Given the description of an element on the screen output the (x, y) to click on. 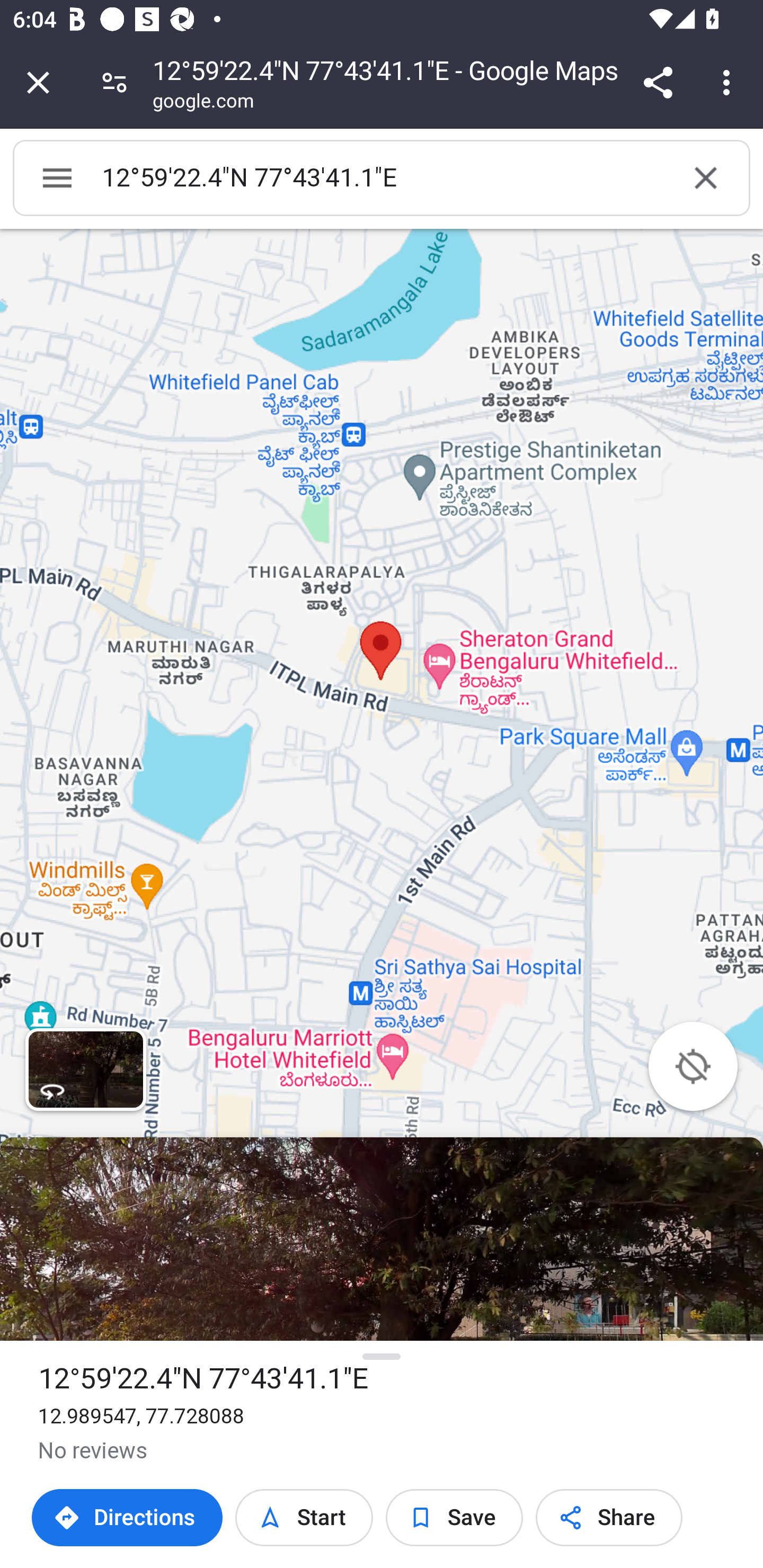
Close tab (38, 82)
Share (657, 82)
Customize and control Google Chrome (729, 82)
Connection is secure (114, 81)
google.com (203, 103)
Directions to 12°59'22.4"N 77°43'41.1"E (127, 1517)
Start (303, 1517)
Save 12°59'22.4"N 77°43'41.1"E in your lists (454, 1517)
Share 12°59'22.4"N 77°43'41.1"E (609, 1517)
